Given the description of an element on the screen output the (x, y) to click on. 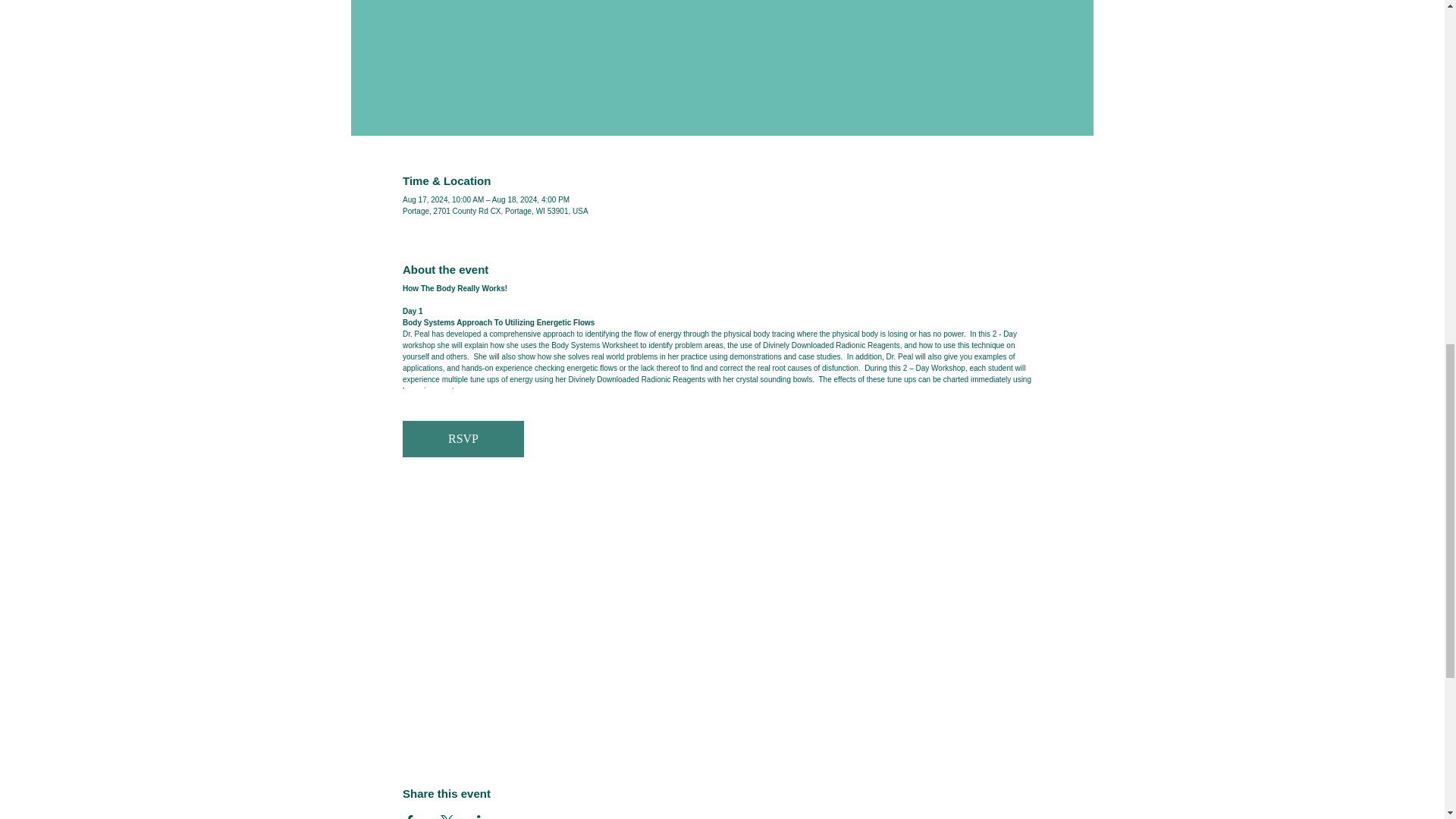
RSVP (463, 438)
